Given the description of an element on the screen output the (x, y) to click on. 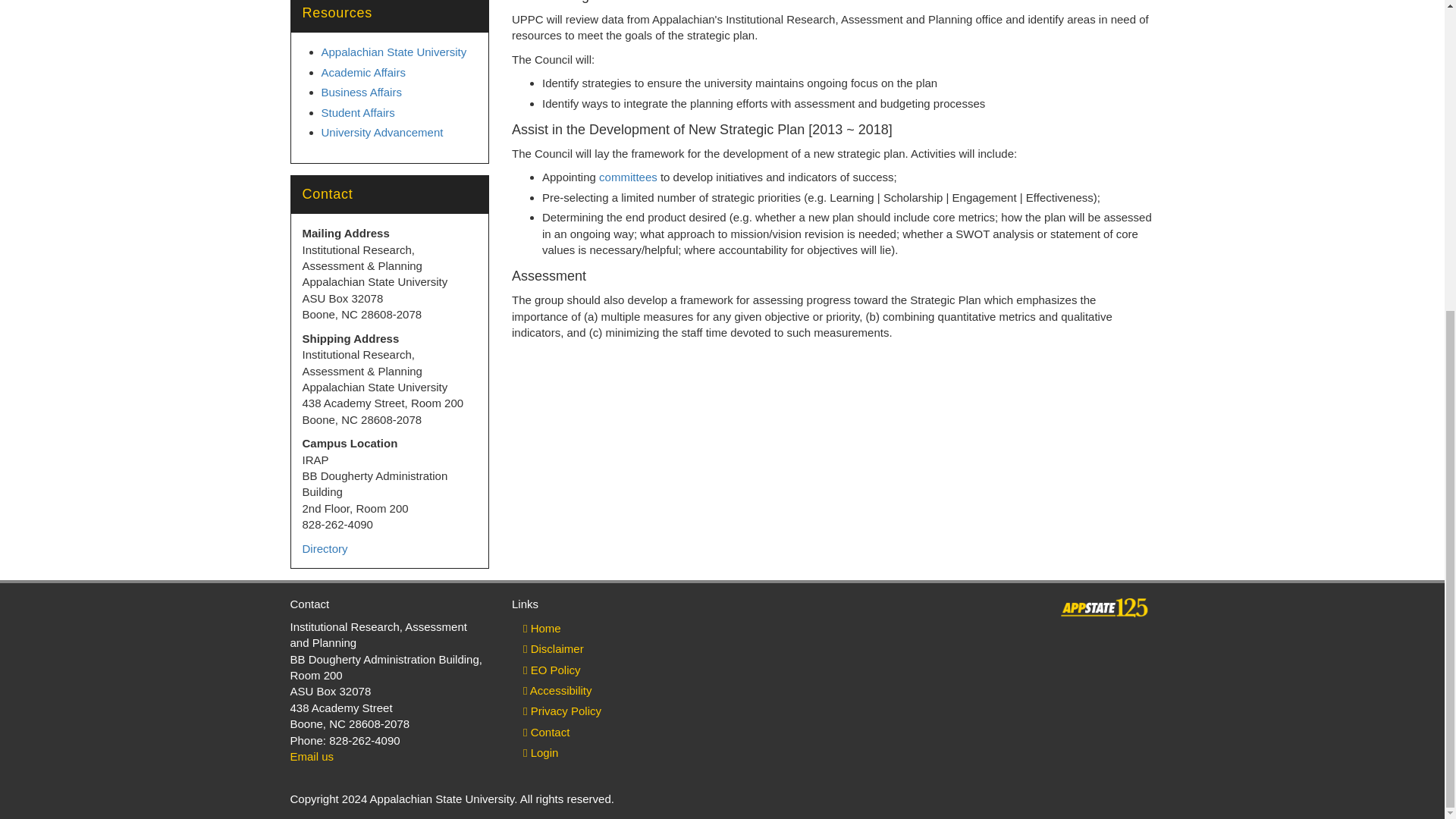
Disclaimer (611, 648)
Email us (311, 756)
University Advancement (382, 132)
EO Policy (611, 669)
Privacy Policy (611, 710)
Login (611, 752)
Home (611, 628)
Directory (324, 548)
Student Affairs (357, 111)
Contact (611, 732)
